Given the description of an element on the screen output the (x, y) to click on. 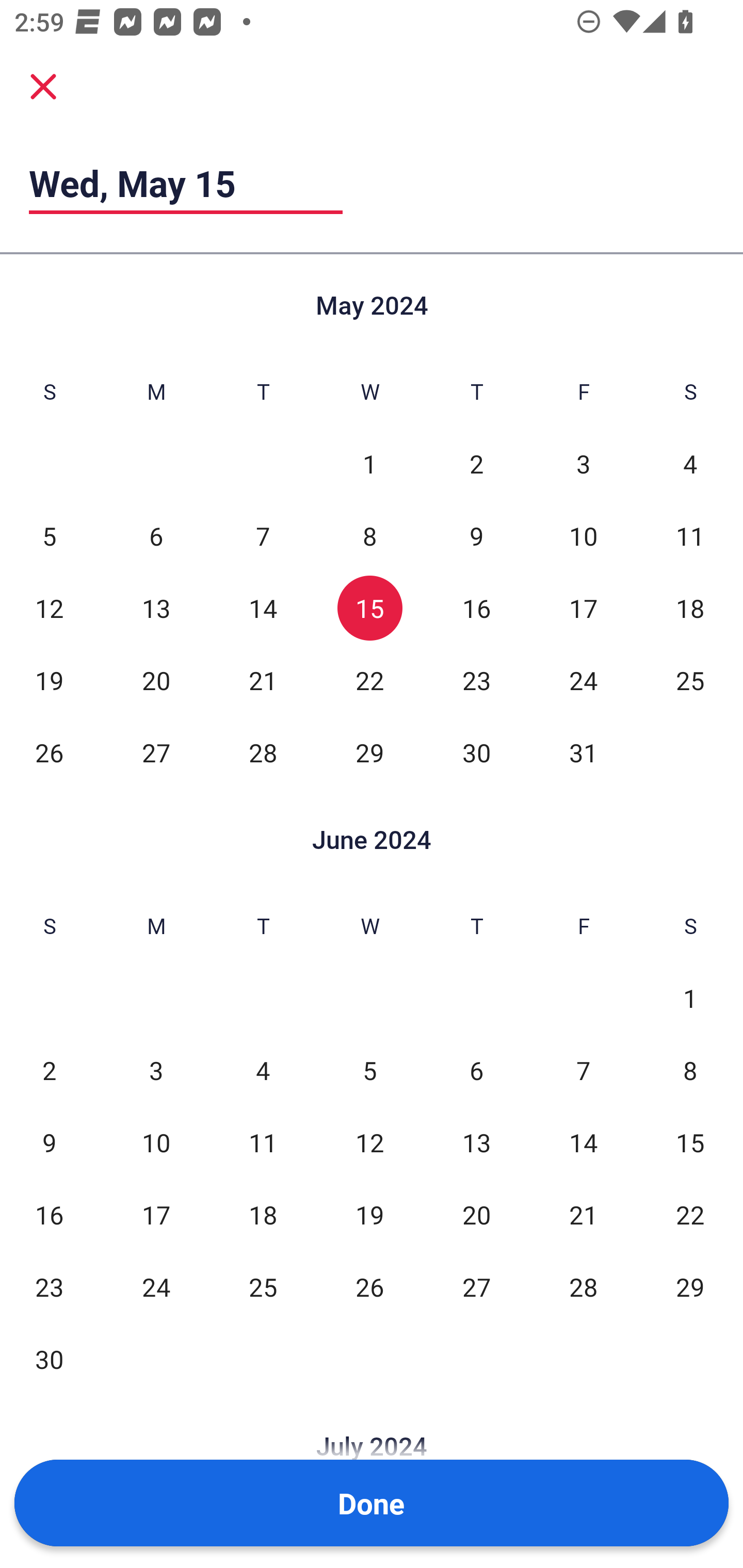
Cancel (43, 86)
Wed, May 15 (185, 182)
1 Wed, May 1, Not Selected (369, 464)
2 Thu, May 2, Not Selected (476, 464)
3 Fri, May 3, Not Selected (583, 464)
4 Sat, May 4, Not Selected (690, 464)
5 Sun, May 5, Not Selected (49, 536)
6 Mon, May 6, Not Selected (156, 536)
7 Tue, May 7, Not Selected (263, 536)
8 Wed, May 8, Not Selected (369, 536)
9 Thu, May 9, Not Selected (476, 536)
10 Fri, May 10, Not Selected (583, 536)
11 Sat, May 11, Not Selected (690, 536)
12 Sun, May 12, Not Selected (49, 608)
13 Mon, May 13, Not Selected (156, 608)
14 Tue, May 14, Not Selected (263, 608)
15 Wed, May 15, Selected (369, 608)
16 Thu, May 16, Not Selected (476, 608)
17 Fri, May 17, Not Selected (583, 608)
18 Sat, May 18, Not Selected (690, 608)
19 Sun, May 19, Not Selected (49, 680)
20 Mon, May 20, Not Selected (156, 680)
21 Tue, May 21, Not Selected (263, 680)
22 Wed, May 22, Not Selected (369, 680)
23 Thu, May 23, Not Selected (476, 680)
24 Fri, May 24, Not Selected (583, 680)
25 Sat, May 25, Not Selected (690, 680)
26 Sun, May 26, Not Selected (49, 752)
27 Mon, May 27, Not Selected (156, 752)
28 Tue, May 28, Not Selected (263, 752)
29 Wed, May 29, Not Selected (369, 752)
30 Thu, May 30, Not Selected (476, 752)
31 Fri, May 31, Not Selected (583, 752)
1 Sat, Jun 1, Not Selected (690, 997)
2 Sun, Jun 2, Not Selected (49, 1070)
3 Mon, Jun 3, Not Selected (156, 1070)
4 Tue, Jun 4, Not Selected (263, 1070)
5 Wed, Jun 5, Not Selected (369, 1070)
6 Thu, Jun 6, Not Selected (476, 1070)
7 Fri, Jun 7, Not Selected (583, 1070)
8 Sat, Jun 8, Not Selected (690, 1070)
9 Sun, Jun 9, Not Selected (49, 1143)
10 Mon, Jun 10, Not Selected (156, 1143)
11 Tue, Jun 11, Not Selected (263, 1143)
12 Wed, Jun 12, Not Selected (369, 1143)
13 Thu, Jun 13, Not Selected (476, 1143)
14 Fri, Jun 14, Not Selected (583, 1143)
15 Sat, Jun 15, Not Selected (690, 1143)
16 Sun, Jun 16, Not Selected (49, 1215)
17 Mon, Jun 17, Not Selected (156, 1215)
18 Tue, Jun 18, Not Selected (263, 1215)
19 Wed, Jun 19, Not Selected (369, 1215)
20 Thu, Jun 20, Not Selected (476, 1215)
21 Fri, Jun 21, Not Selected (583, 1215)
22 Sat, Jun 22, Not Selected (690, 1215)
23 Sun, Jun 23, Not Selected (49, 1287)
24 Mon, Jun 24, Not Selected (156, 1287)
25 Tue, Jun 25, Not Selected (263, 1287)
26 Wed, Jun 26, Not Selected (369, 1287)
27 Thu, Jun 27, Not Selected (476, 1287)
28 Fri, Jun 28, Not Selected (583, 1287)
29 Sat, Jun 29, Not Selected (690, 1287)
30 Sun, Jun 30, Not Selected (49, 1359)
Done Button Done (371, 1502)
